Given the description of an element on the screen output the (x, y) to click on. 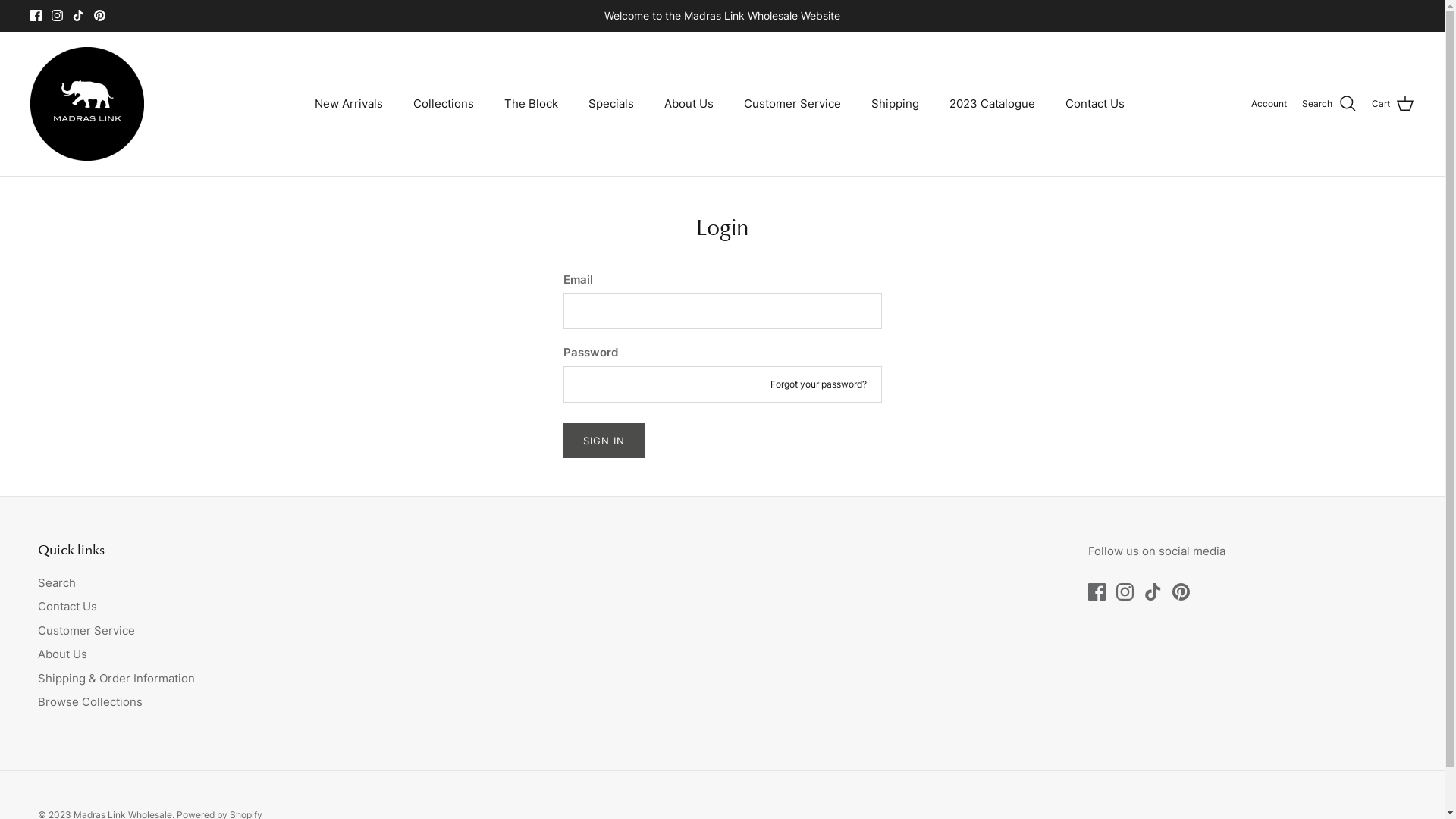
Cart Element type: text (1392, 103)
Contact Us Element type: text (67, 606)
Shipping & Order Information Element type: text (115, 678)
Pinterest Element type: text (1180, 591)
Instagram Element type: text (1124, 591)
About Us Element type: text (62, 653)
Customer Service Element type: text (85, 630)
SIGN IN Element type: text (602, 440)
Browse Collections Element type: text (89, 701)
Instagram Element type: text (56, 15)
Shipping Element type: text (894, 103)
About Us Element type: text (688, 103)
Pinterest Element type: text (99, 15)
Collections Element type: text (443, 103)
Madras Link Wholesale Element type: hover (87, 103)
Forgot your password? Element type: text (818, 383)
Specials Element type: text (610, 103)
Account Element type: text (1268, 103)
Facebook Element type: text (35, 15)
Customer Service Element type: text (792, 103)
2023 Catalogue Element type: text (991, 103)
Facebook Element type: text (1096, 591)
New Arrivals Element type: text (348, 103)
Contact Us Element type: text (1094, 103)
Search Element type: text (56, 582)
Search Element type: text (1329, 103)
The Block Element type: text (530, 103)
